Given the description of an element on the screen output the (x, y) to click on. 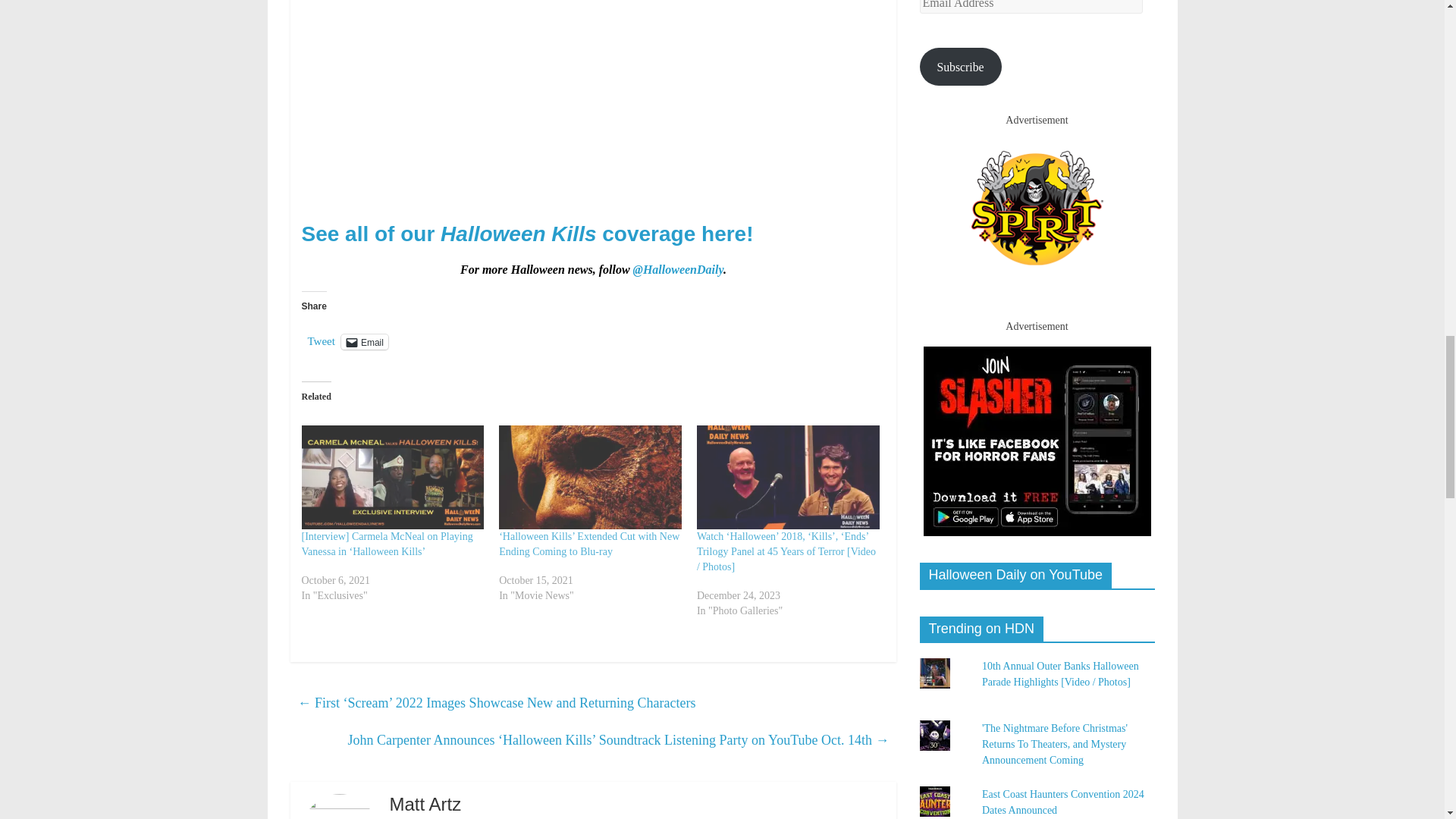
See all of our Halloween Kills coverage here! (527, 233)
Email (364, 341)
Click to email a link to a friend (364, 341)
Tweet (320, 341)
